Given the description of an element on the screen output the (x, y) to click on. 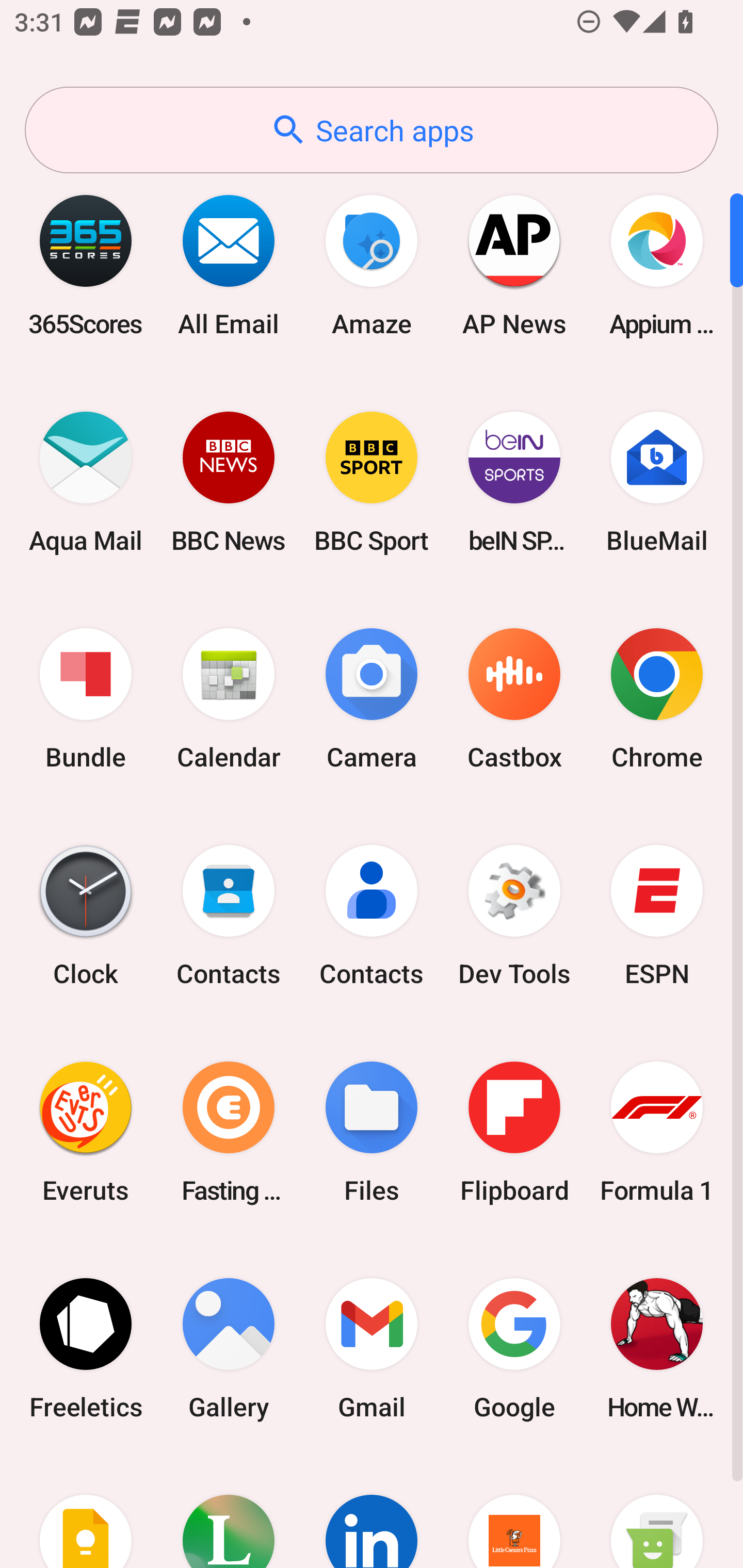
  Search apps (371, 130)
365Scores (85, 264)
All Email (228, 264)
Amaze (371, 264)
AP News (514, 264)
Appium Settings (656, 264)
Aqua Mail (85, 482)
BBC News (228, 482)
BBC Sport (371, 482)
beIN SPORTS (514, 482)
BlueMail (656, 482)
Bundle (85, 699)
Calendar (228, 699)
Camera (371, 699)
Castbox (514, 699)
Chrome (656, 699)
Clock (85, 915)
Contacts (228, 915)
Contacts (371, 915)
Dev Tools (514, 915)
ESPN (656, 915)
Everuts (85, 1131)
Fasting Coach (228, 1131)
Files (371, 1131)
Flipboard (514, 1131)
Formula 1 (656, 1131)
Freeletics (85, 1348)
Gallery (228, 1348)
Gmail (371, 1348)
Google (514, 1348)
Home Workout (656, 1348)
Keep Notes (85, 1512)
Lifesum (228, 1512)
LinkedIn (371, 1512)
Little Caesars Pizza (514, 1512)
Messaging (656, 1512)
